Given the description of an element on the screen output the (x, y) to click on. 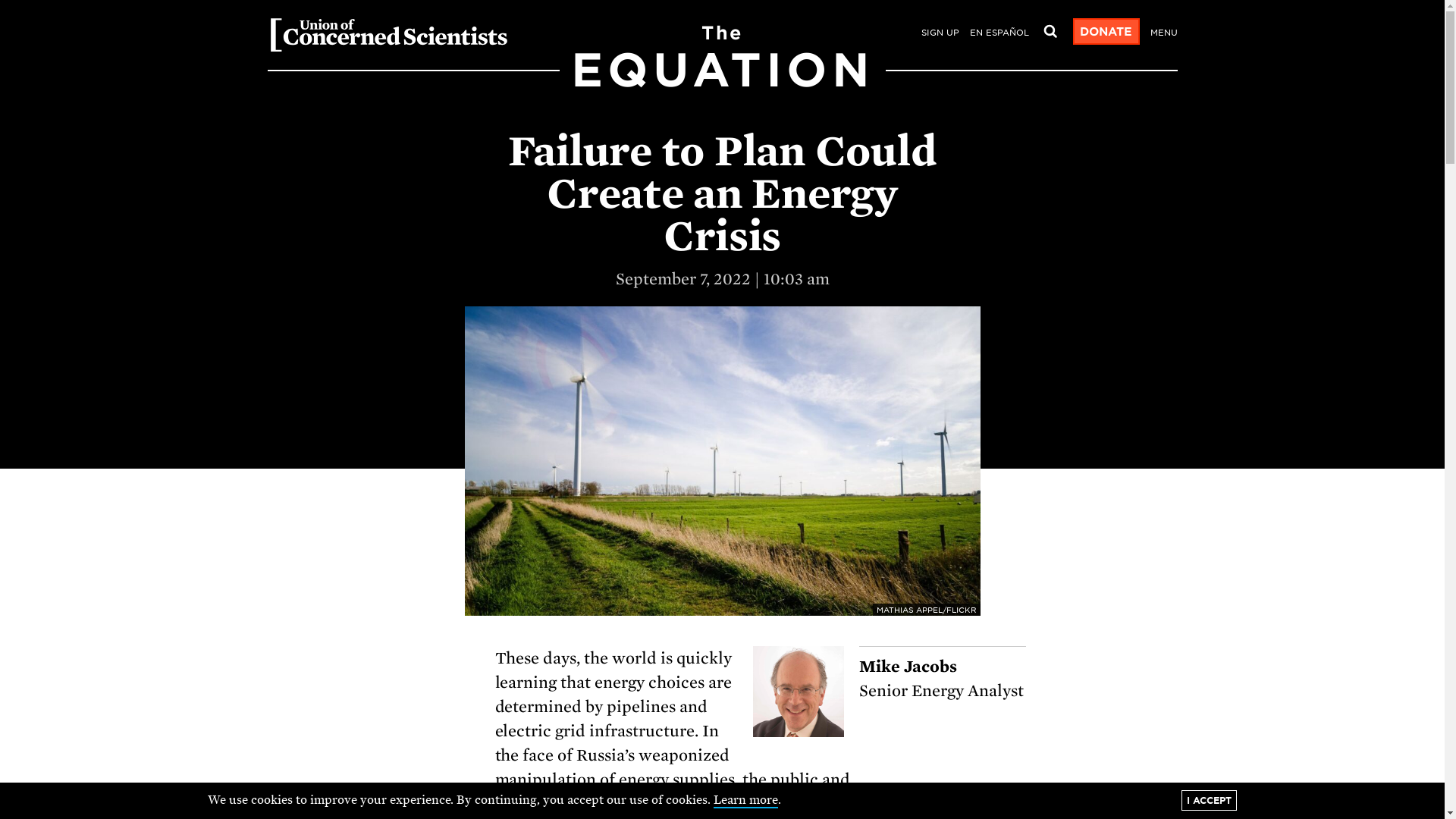
SIGN UP (721, 80)
DONATE (939, 32)
MENU (1104, 31)
